Given the description of an element on the screen output the (x, y) to click on. 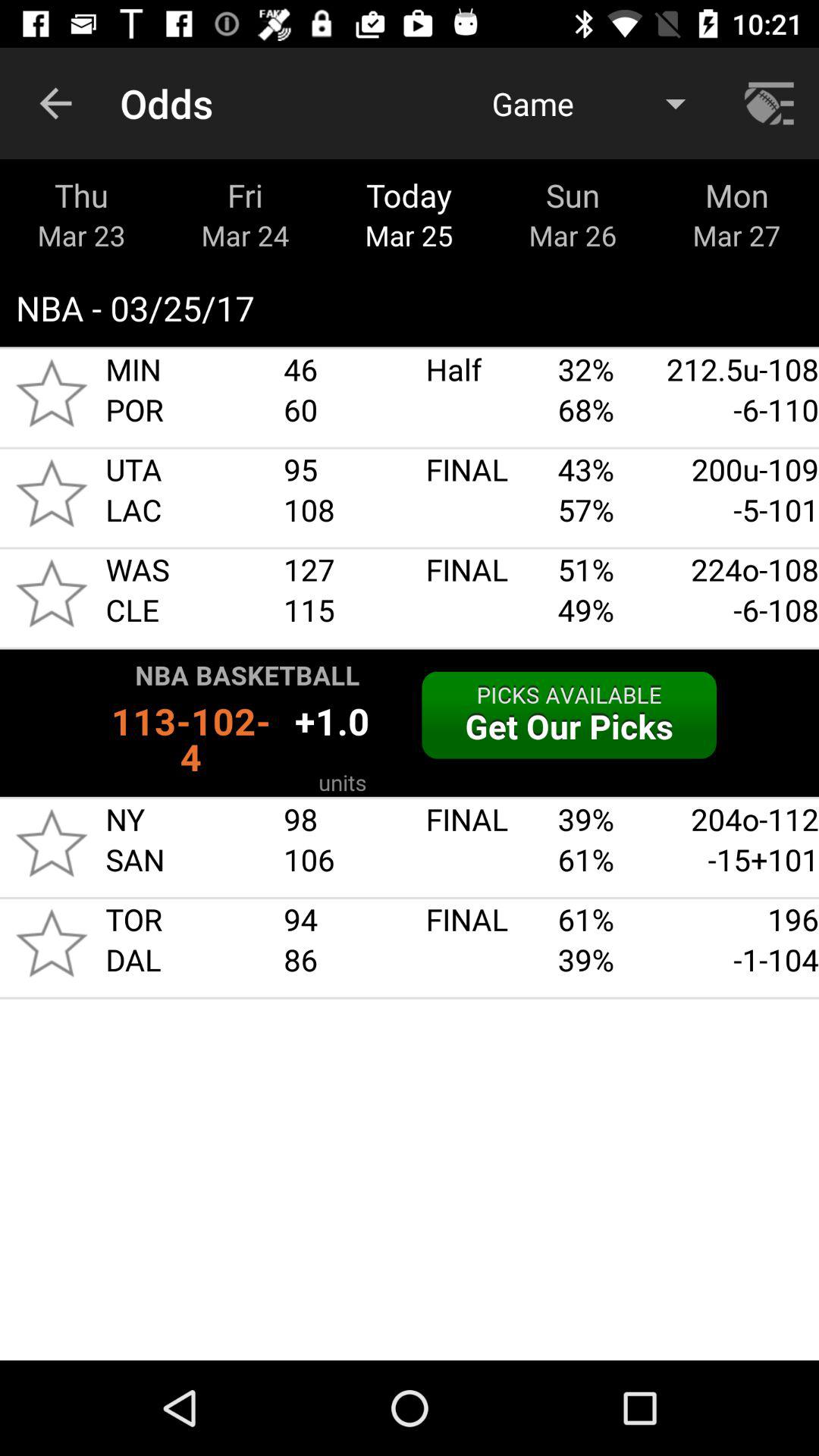
toggle favorite (51, 842)
